Given the description of an element on the screen output the (x, y) to click on. 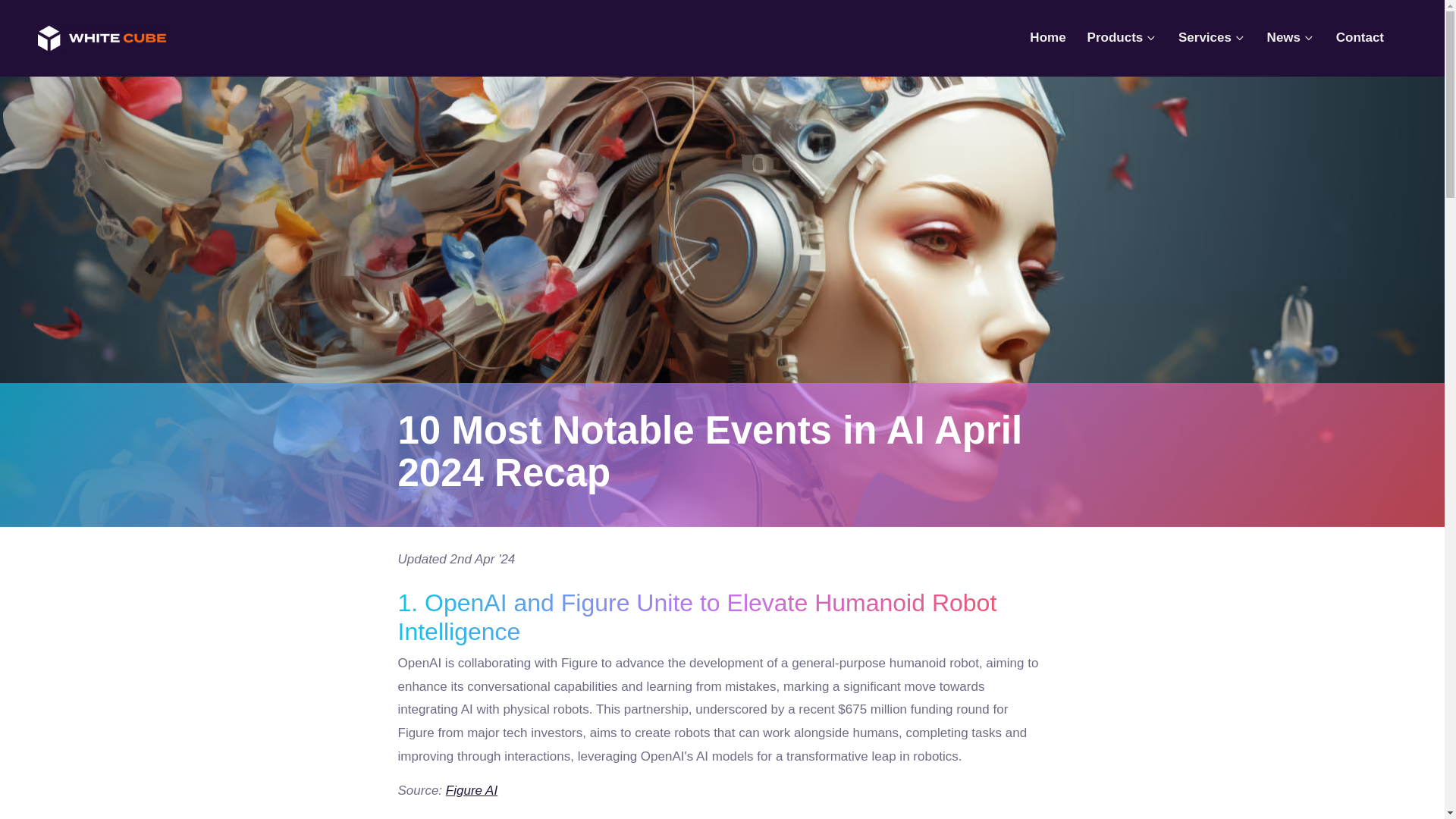
Products (1122, 37)
Services (1211, 37)
Figure AI (471, 789)
